Given the description of an element on the screen output the (x, y) to click on. 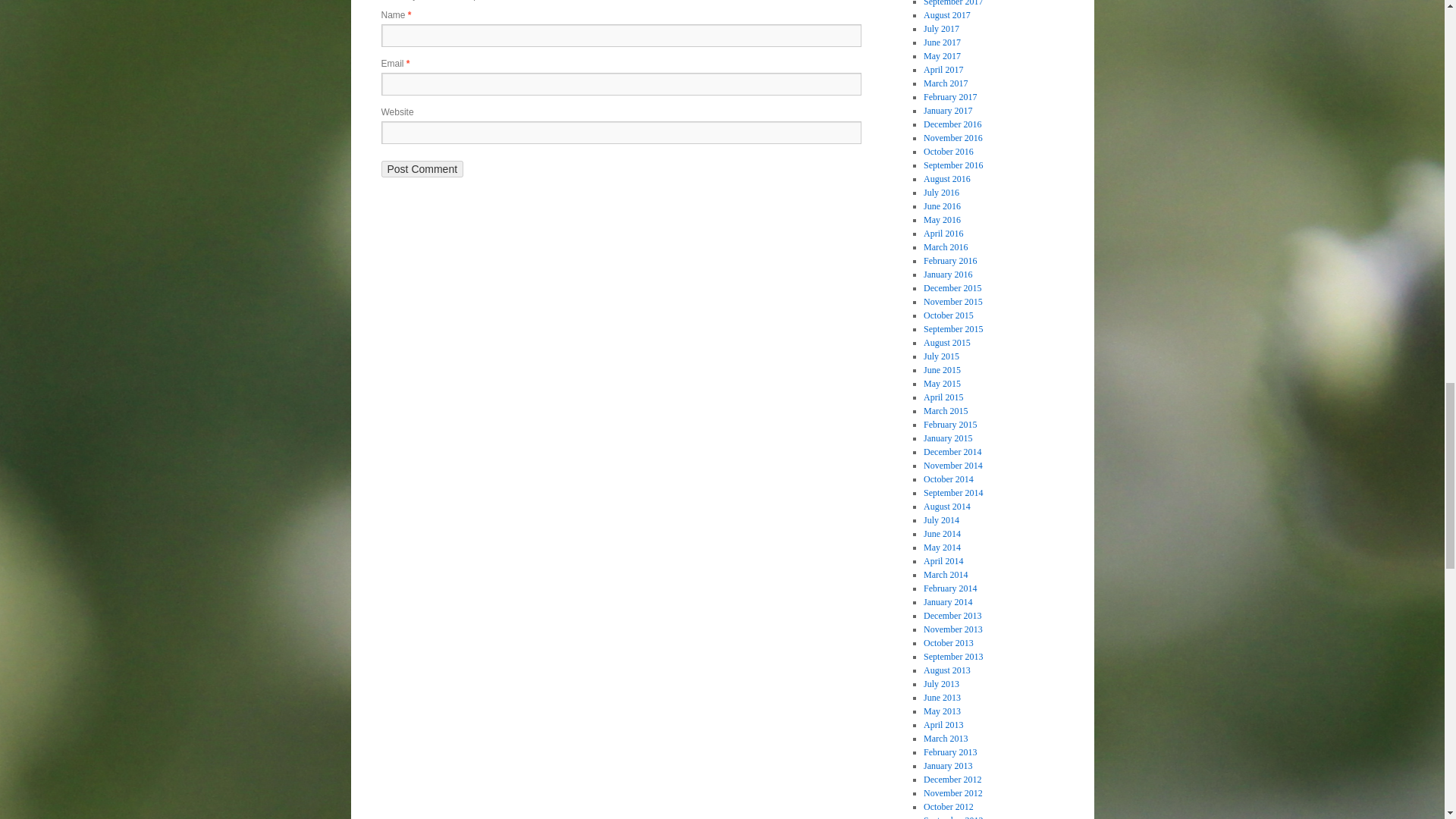
Post Comment (421, 168)
Post Comment (421, 168)
